Given the description of an element on the screen output the (x, y) to click on. 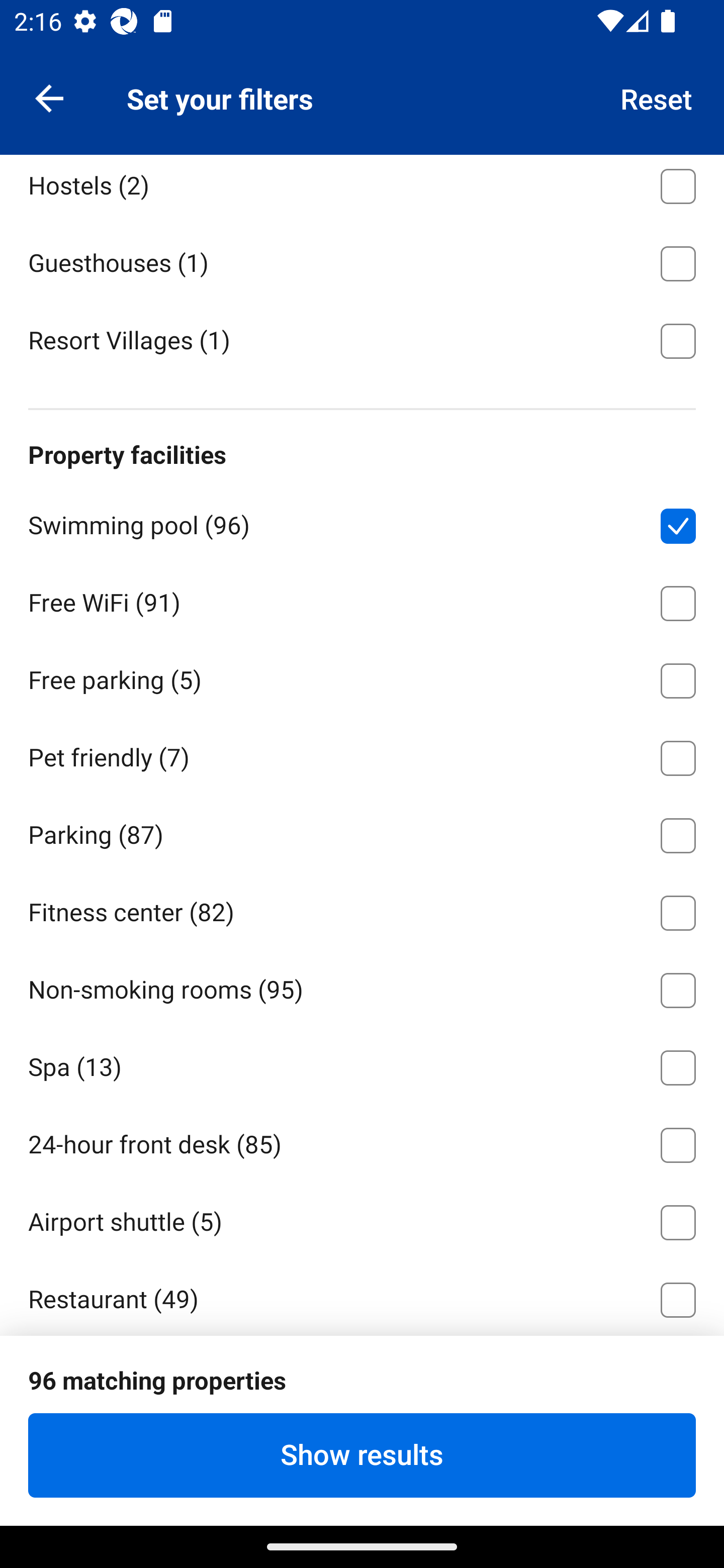
Navigate up (49, 97)
Reset (656, 97)
Motels ⁦(2) (361, 105)
Hostels ⁦(2) (361, 188)
Guesthouses ⁦(1) (361, 260)
Resort Villages ⁦(1) (361, 339)
Swimming pool ⁦(96) (361, 522)
Free WiFi ⁦(91) (361, 599)
Free parking ⁦(5) (361, 677)
Pet friendly ⁦(7) (361, 754)
Parking ⁦(87) (361, 831)
Fitness center ⁦(82) (361, 909)
Non-smoking rooms ⁦(95) (361, 986)
Spa ⁦(13) (361, 1064)
24-hour front desk ⁦(85) (361, 1141)
Airport shuttle ⁦(5) (361, 1218)
Restaurant ⁦(49) (361, 1296)
Show results (361, 1454)
